Given the description of an element on the screen output the (x, y) to click on. 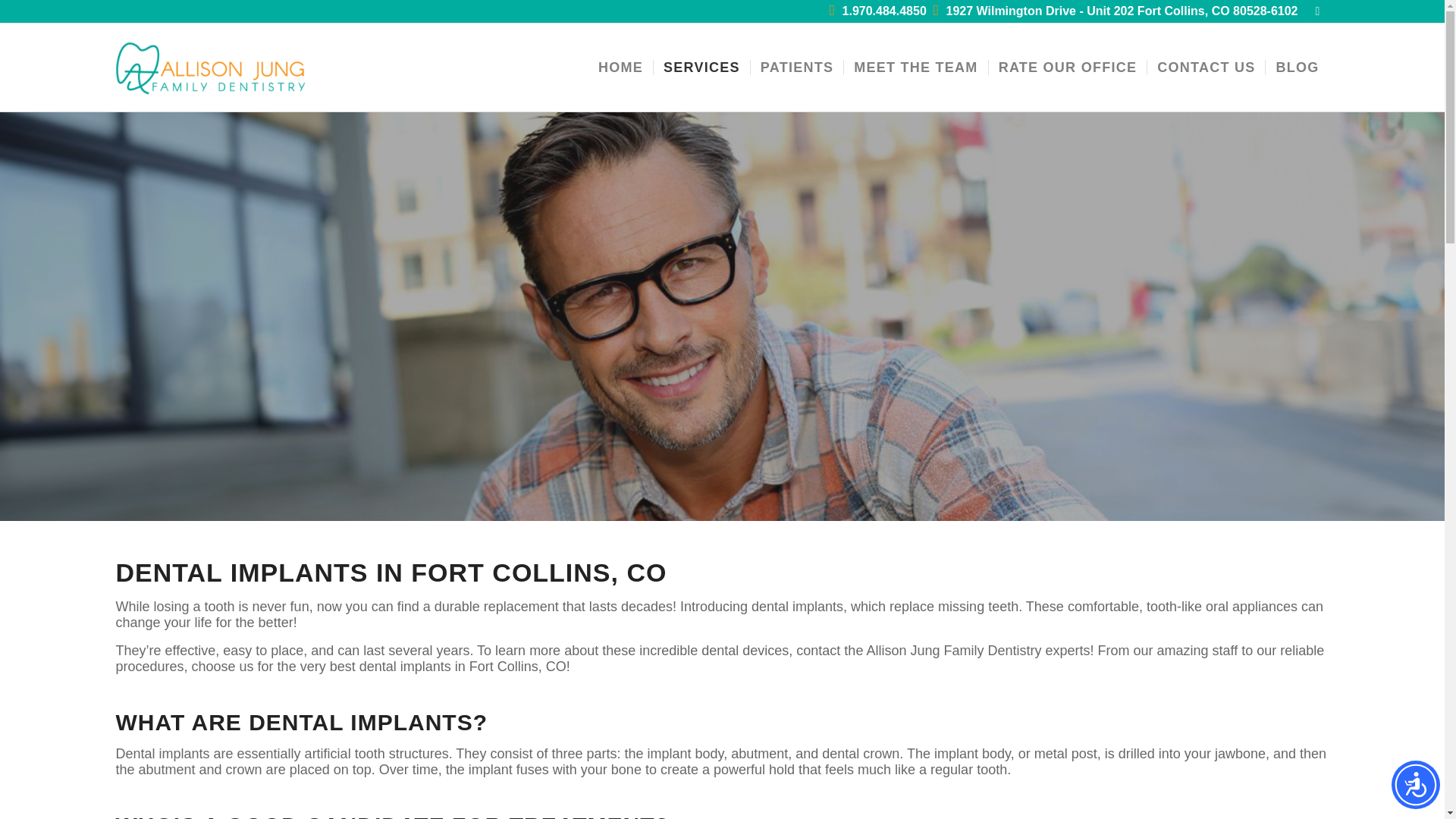
Accessibility Menu (1415, 784)
RATE OUR OFFICE (1067, 67)
CONTACT US (1206, 67)
MEET THE TEAM (915, 67)
SERVICES (700, 67)
Facebook (1316, 11)
PATIENTS (796, 67)
allisonjung340x156 (211, 67)
